Given the description of an element on the screen output the (x, y) to click on. 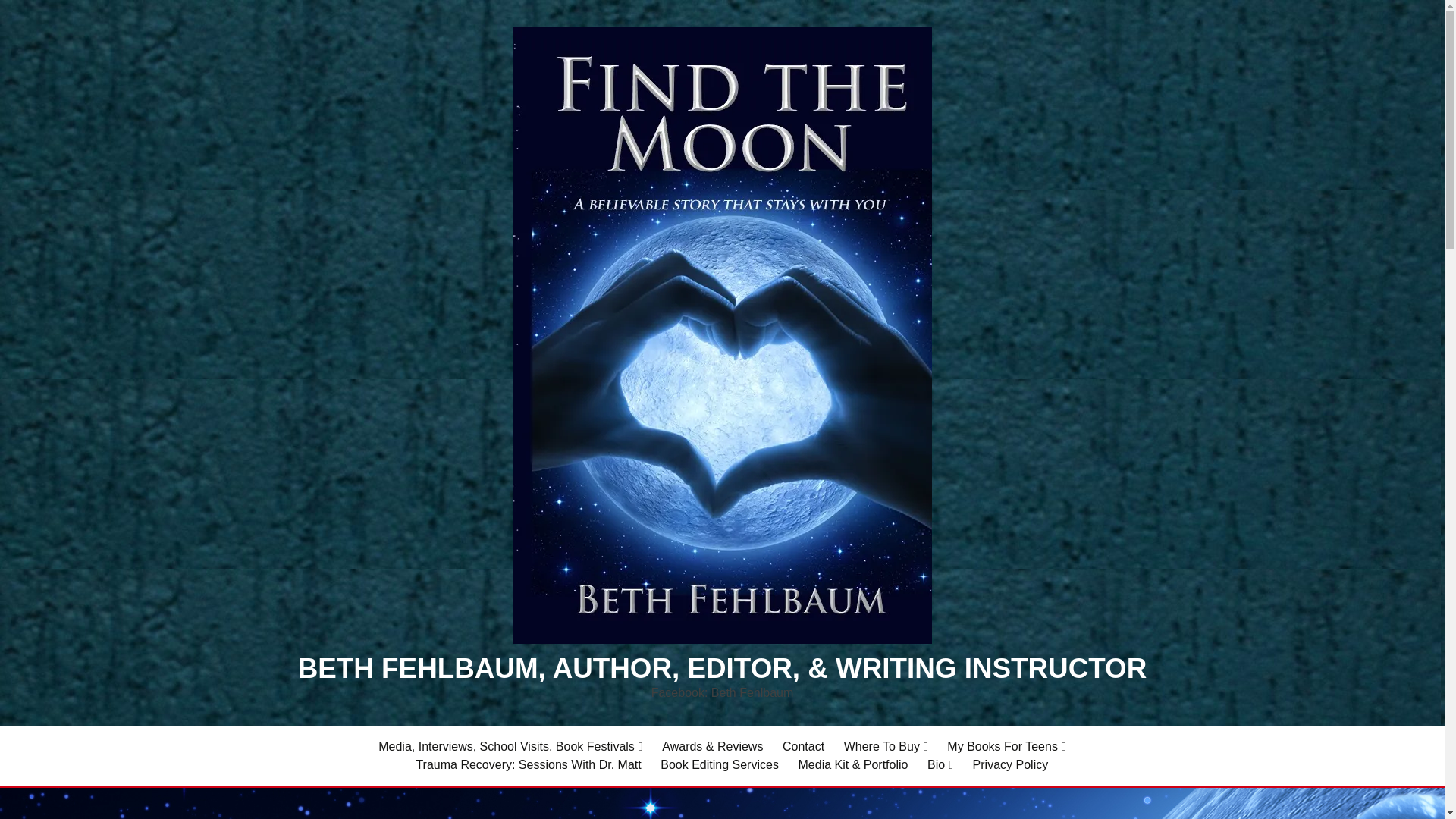
Contact (803, 746)
My Books For Teens (1006, 746)
Book Editing Services (719, 764)
Media, Interviews, School Visits, Book Festivals (510, 746)
Privacy Policy (1010, 764)
Where To Buy (886, 746)
Bio (940, 764)
Trauma Recovery: Sessions With Dr. Matt (527, 764)
